Given the description of an element on the screen output the (x, y) to click on. 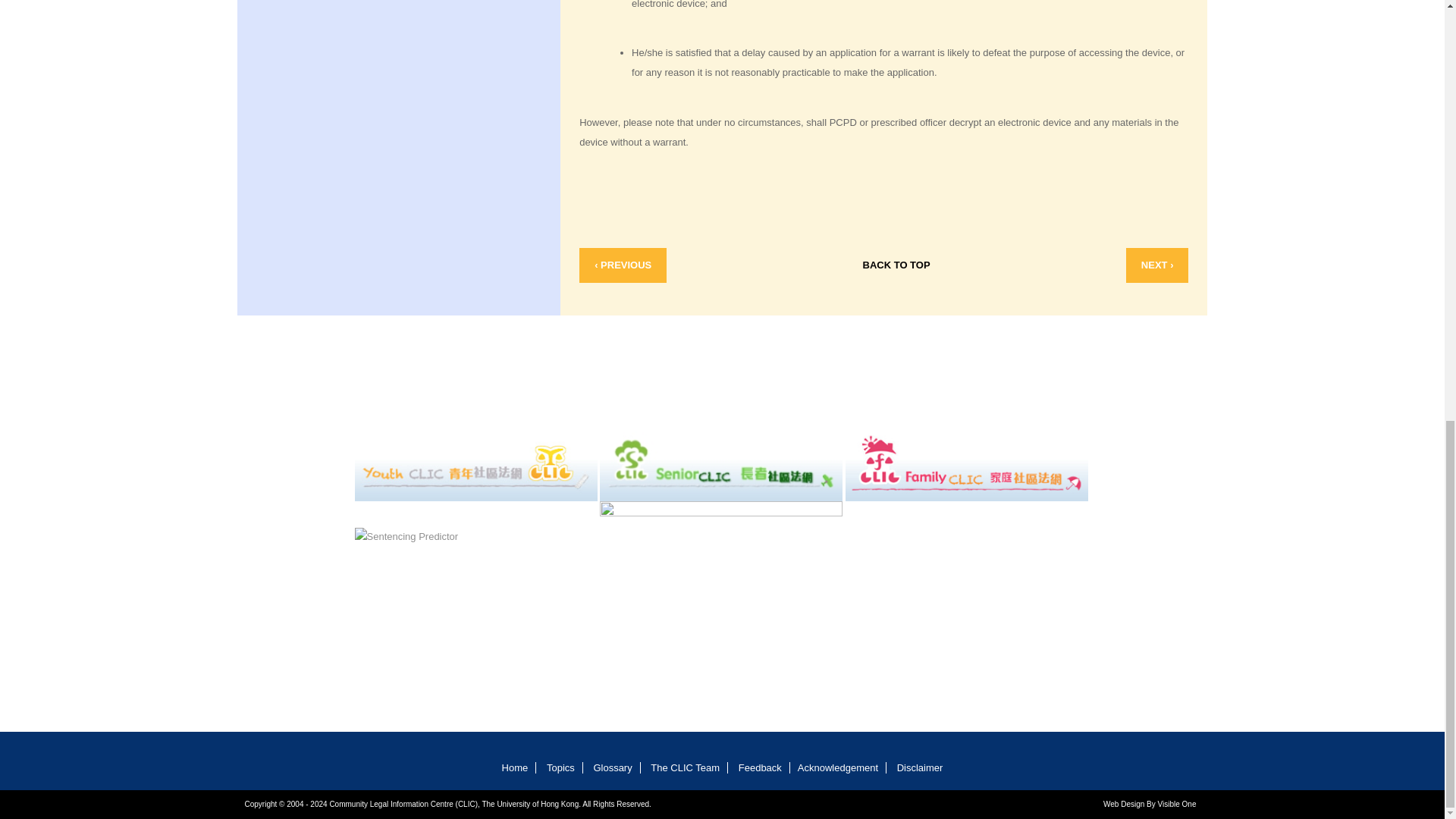
Go to next page (1157, 265)
Go to previous page (622, 265)
Go to parent page (895, 265)
BACK TO TOP (895, 265)
